Given the description of an element on the screen output the (x, y) to click on. 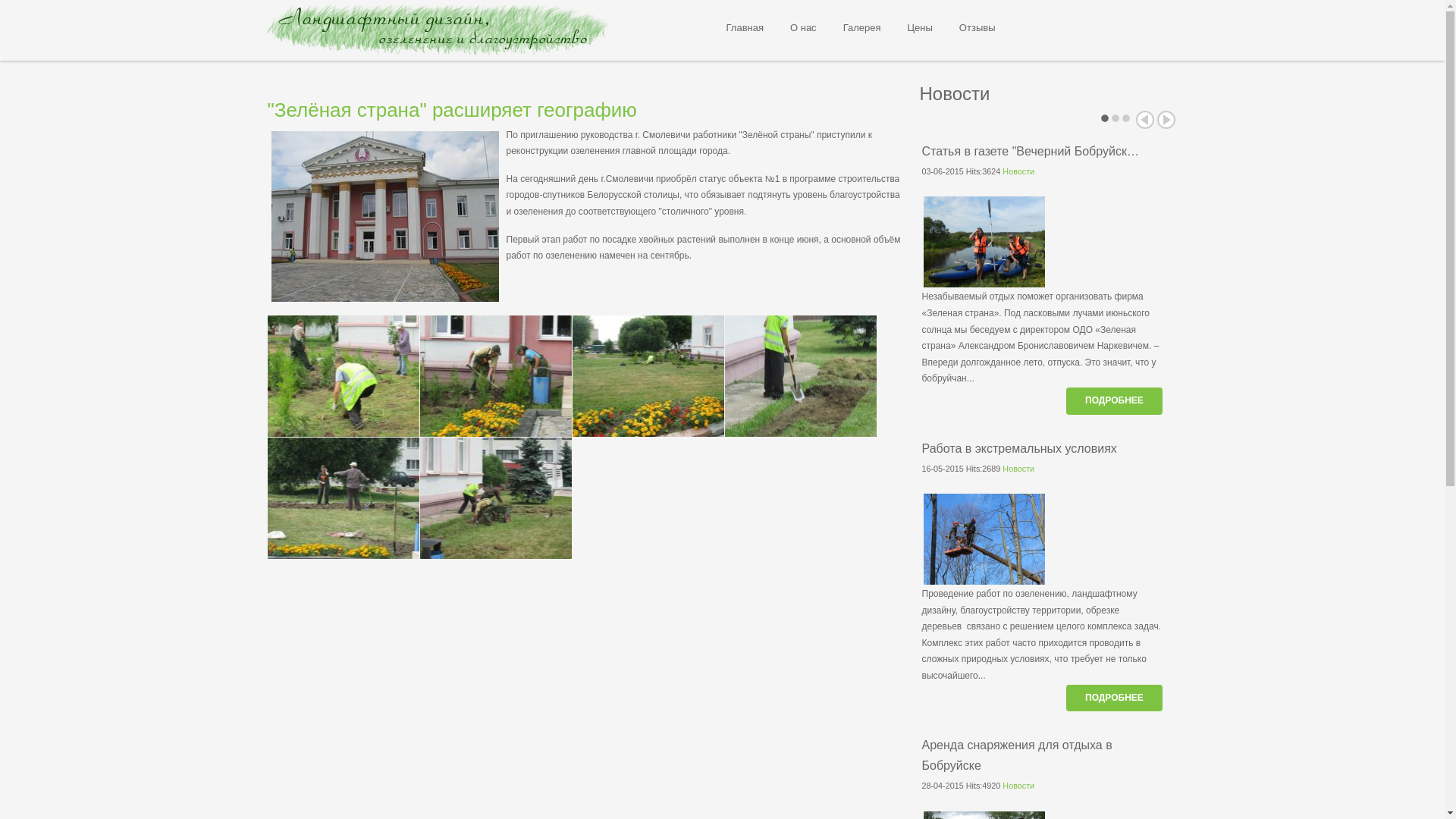
You are viewing the image with filename smol5.jpg Element type: hover (342, 497)
You are viewing the image with filename smol6.jpg Element type: hover (495, 497)
You are viewing the image with filename smol3.jpg Element type: hover (647, 375)
You are viewing the image with filename smol4.jpg Element type: hover (800, 375)
You are viewing the image with filename smol2.jpg Element type: hover (495, 375)
You are viewing the image with filename smol1.jpg Element type: hover (342, 375)
